Given the description of an element on the screen output the (x, y) to click on. 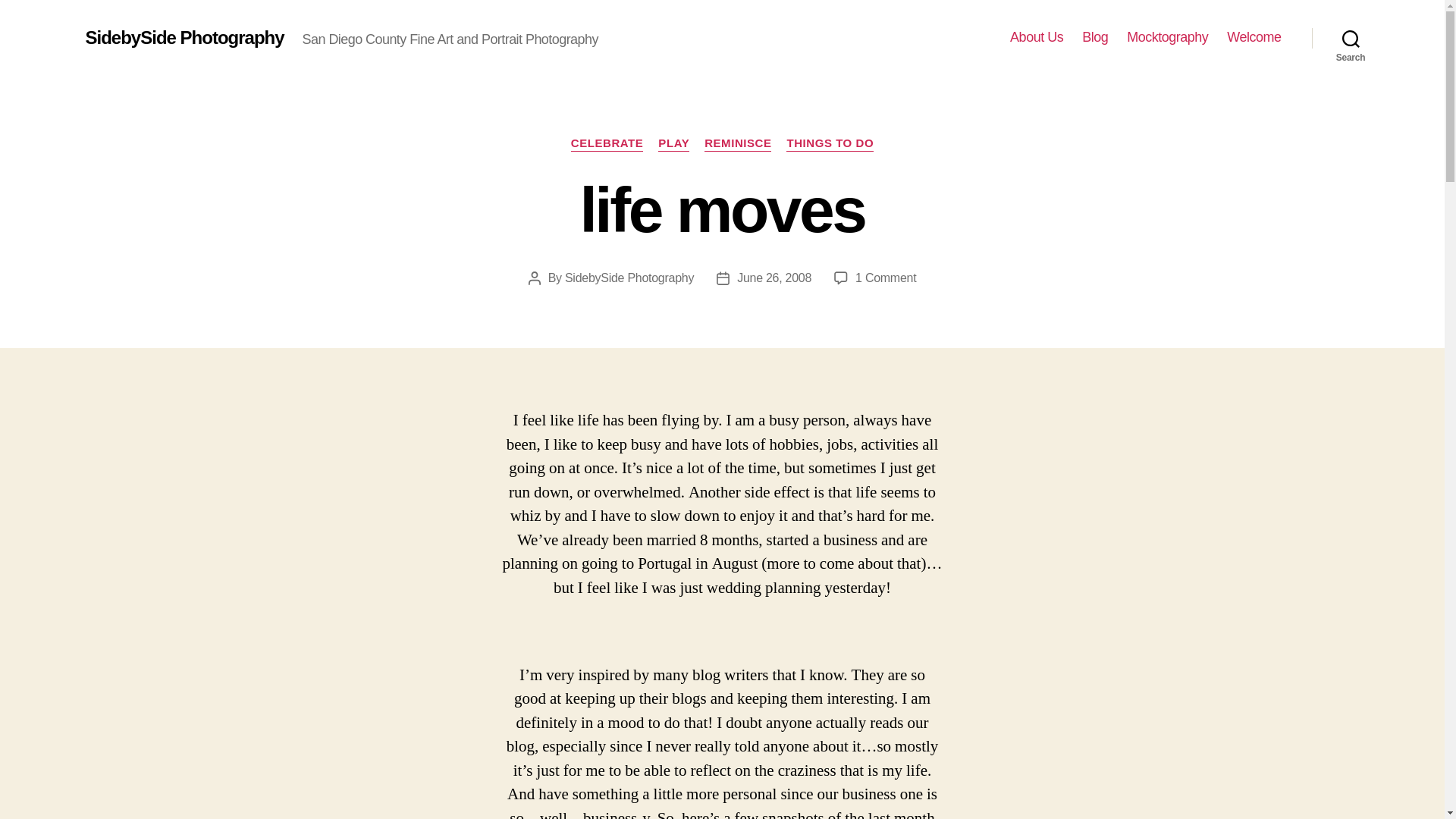
Search (1350, 37)
SidebySide Photography (629, 277)
SidebySide Photography (885, 277)
Blog (183, 37)
PLAY (1094, 37)
Welcome (673, 143)
REMINISCE (1254, 37)
About Us (737, 143)
THINGS TO DO (1036, 37)
Mocktography (829, 143)
CELEBRATE (1167, 37)
June 26, 2008 (606, 143)
